Given the description of an element on the screen output the (x, y) to click on. 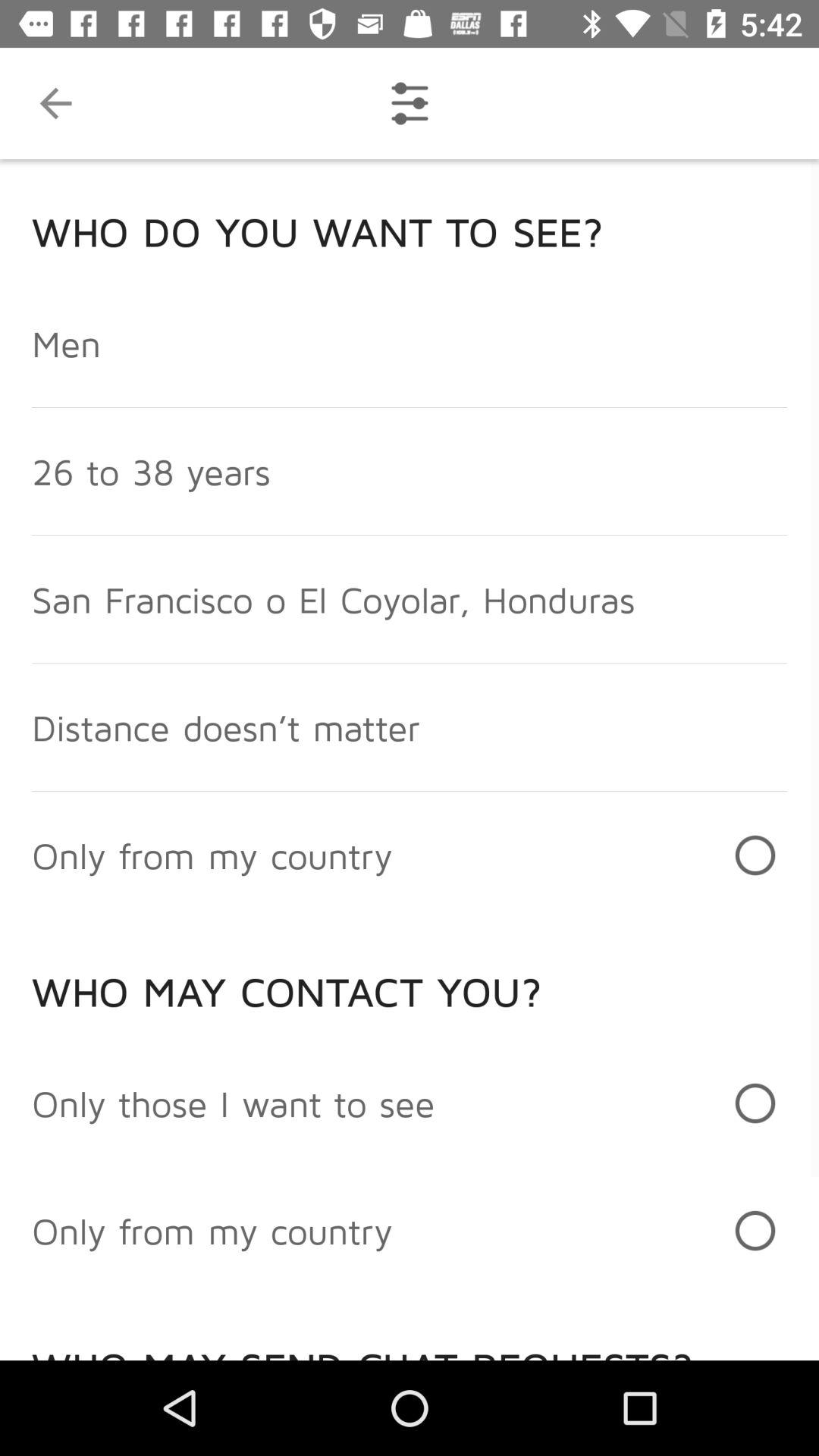
flip until the san francisco o item (332, 599)
